Given the description of an element on the screen output the (x, y) to click on. 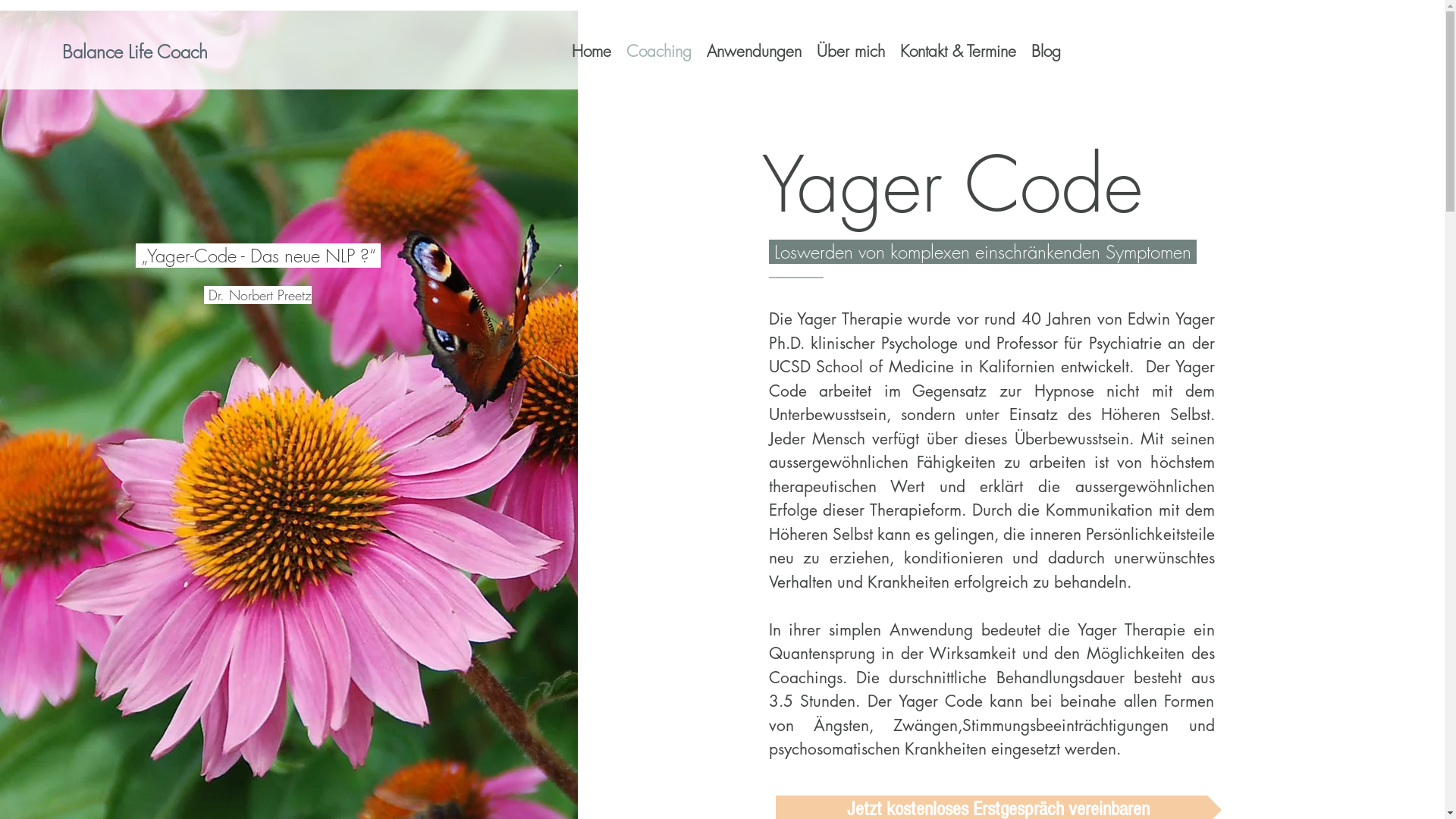
Coaching Element type: text (658, 51)
Partner Element type: text (1157, 773)
Kontakt & Termine Element type: text (956, 51)
Home Element type: text (591, 51)
Blog Element type: text (1045, 51)
Balance Life Coach Element type: text (140, 51)
